Given the description of an element on the screen output the (x, y) to click on. 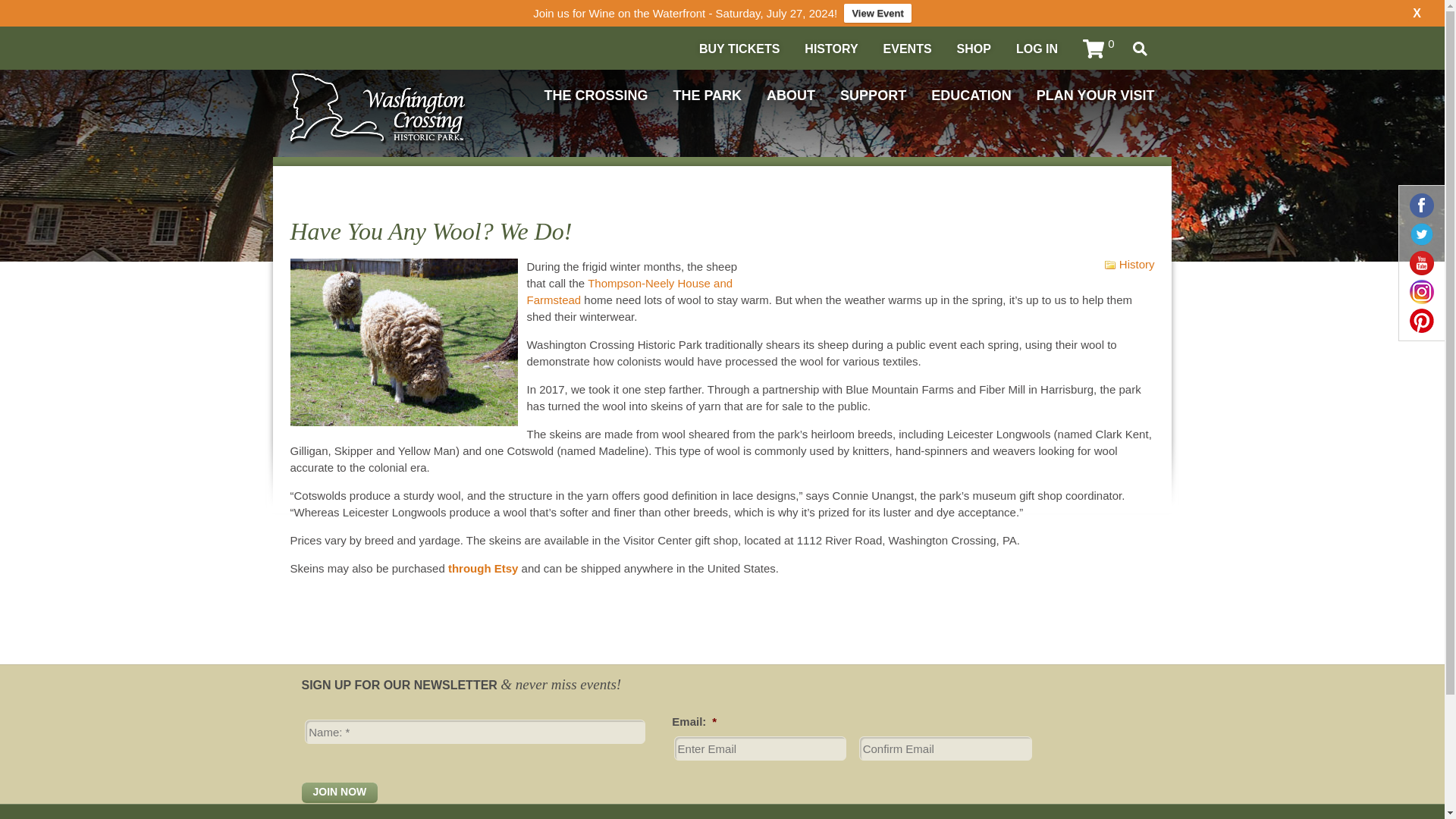
HISTORY (831, 49)
Join Now (339, 792)
Search (1139, 48)
youtube (1421, 262)
THE CROSSING (595, 95)
twitter (1421, 233)
instagram (1421, 291)
pinterest (1421, 320)
THE PARK (706, 95)
ABOUT (791, 95)
LOG IN (1037, 49)
BUY TICKETS (738, 49)
SHOP (973, 49)
EVENTS (907, 49)
facebook (1421, 205)
